Given the description of an element on the screen output the (x, y) to click on. 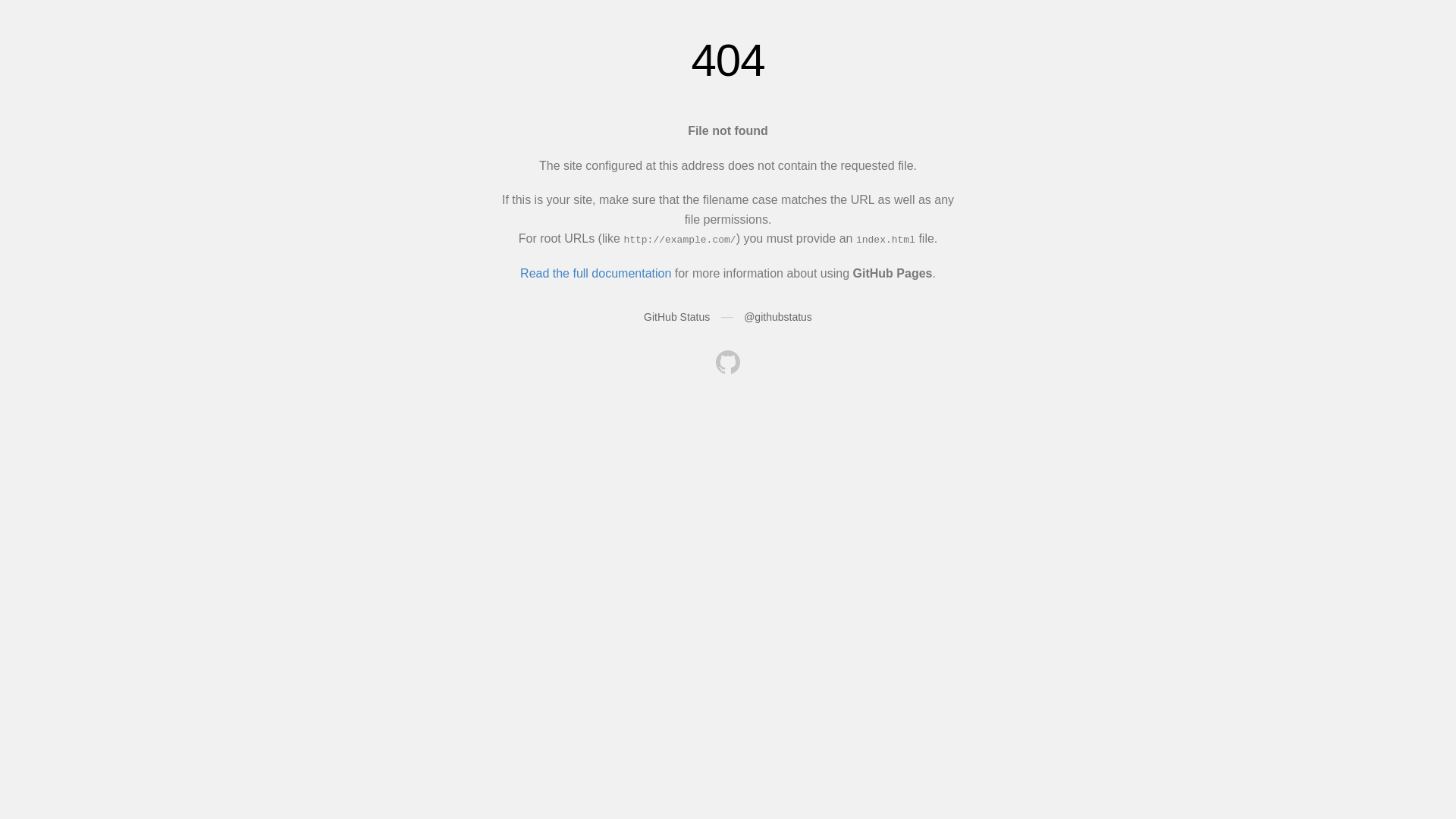
GitHub Status Element type: text (676, 316)
@githubstatus Element type: text (777, 316)
Read the full documentation Element type: text (595, 272)
